Given the description of an element on the screen output the (x, y) to click on. 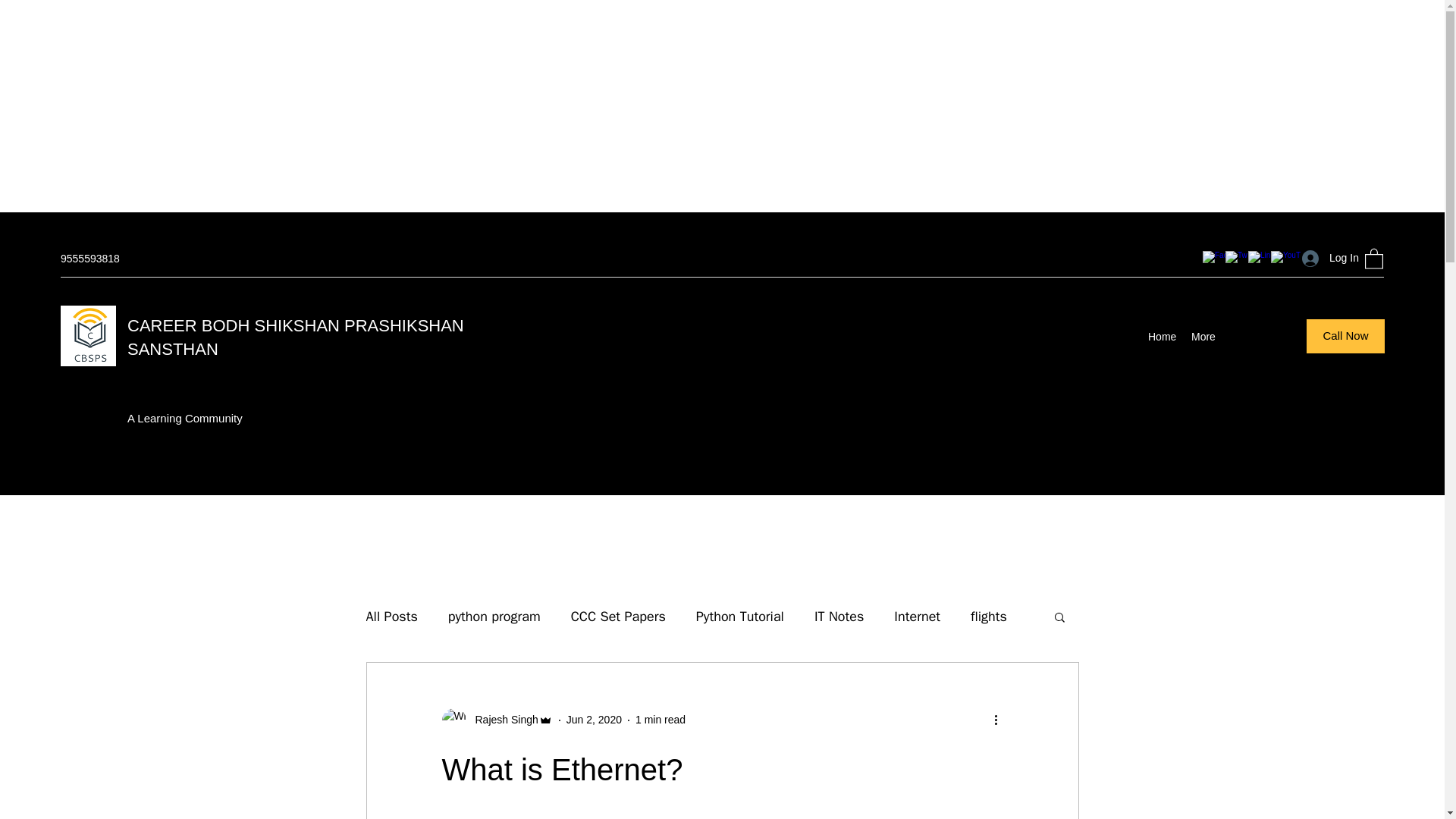
Rajesh Singh (496, 720)
python program (494, 616)
CAREER BODH SHIKSHAN PRASHIKSHAN SANSTHAN (296, 337)
Jun 2, 2020 (593, 719)
Log In (1325, 257)
Python Tutorial (739, 616)
Home (1161, 336)
All Posts (390, 616)
flights (989, 616)
CCC Set Papers (617, 616)
